Given the description of an element on the screen output the (x, y) to click on. 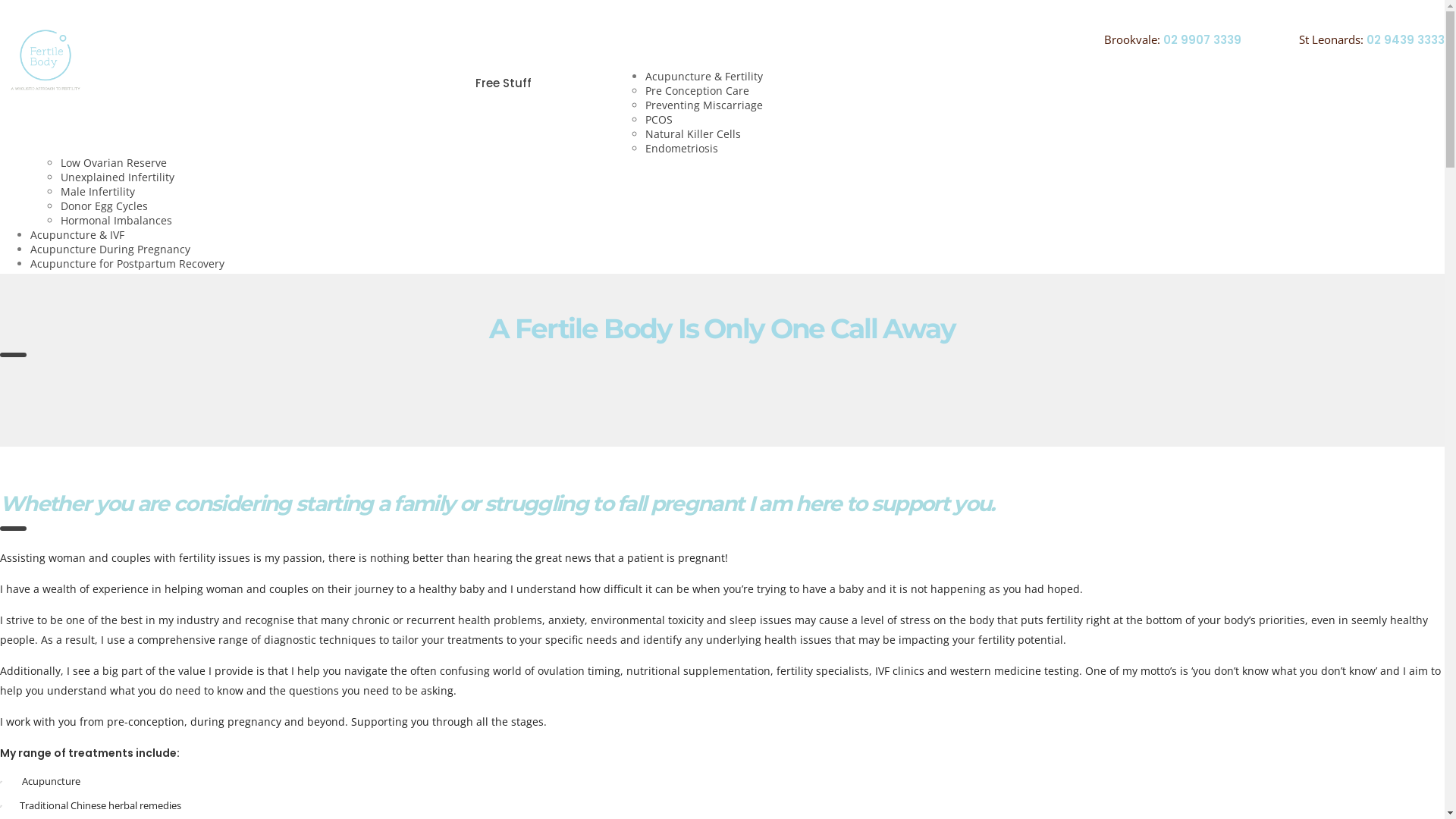
Start Here Element type: text (597, 101)
Preventing Miscarriage Element type: text (703, 104)
Acupuncture During Pregnancy Element type: text (110, 248)
Acupuncture for Postpartum Recovery Element type: text (127, 263)
Free Stuff Element type: text (503, 101)
Male Infertility Element type: text (97, 191)
02 9907 3339 Element type: text (1202, 39)
Pre Conception Care Element type: text (697, 90)
Acupuncture & Fertility Element type: text (227, 101)
Hormonal Imbalances Element type: text (116, 220)
PCOS Element type: text (658, 119)
Acupuncture & IVF Element type: text (385, 101)
Acupuncture & Fertility Element type: text (703, 76)
Acupuncture & IVF Element type: text (77, 234)
Unexplained Infertility Element type: text (117, 176)
Donor Egg Cycles Element type: text (103, 205)
Low Ovarian Reserve Element type: text (113, 162)
02 9439 3333 Element type: text (1405, 39)
Home Element type: text (106, 101)
Natural Killer Cells Element type: text (692, 133)
Endometriosis Element type: text (681, 148)
